Given the description of an element on the screen output the (x, y) to click on. 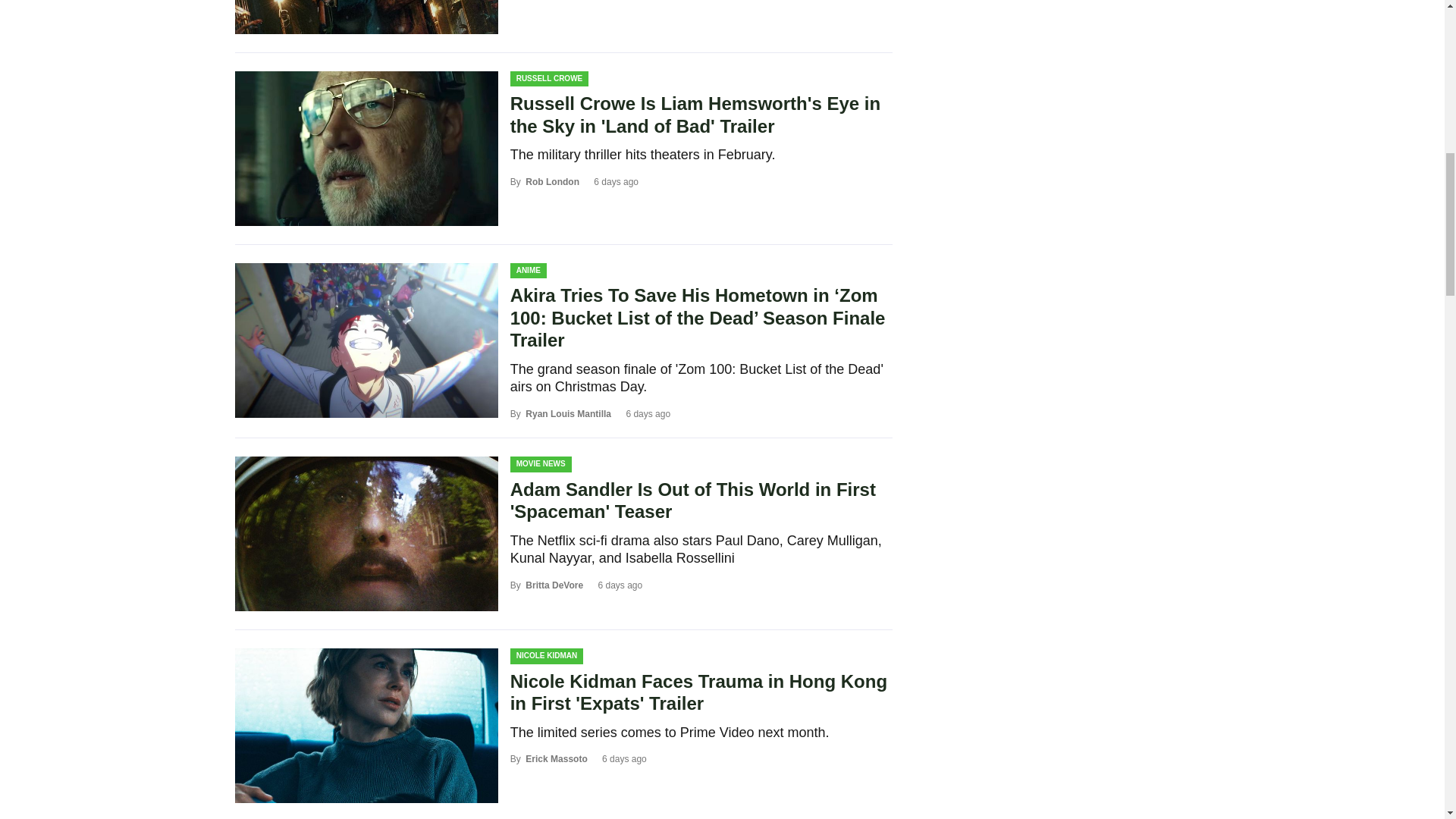
Posts by Ryan Louis Mantilla (568, 413)
Posts by Erick Massoto (555, 758)
Posts by Rob London (552, 181)
Posts by Britta DeVore (554, 584)
